Given the description of an element on the screen output the (x, y) to click on. 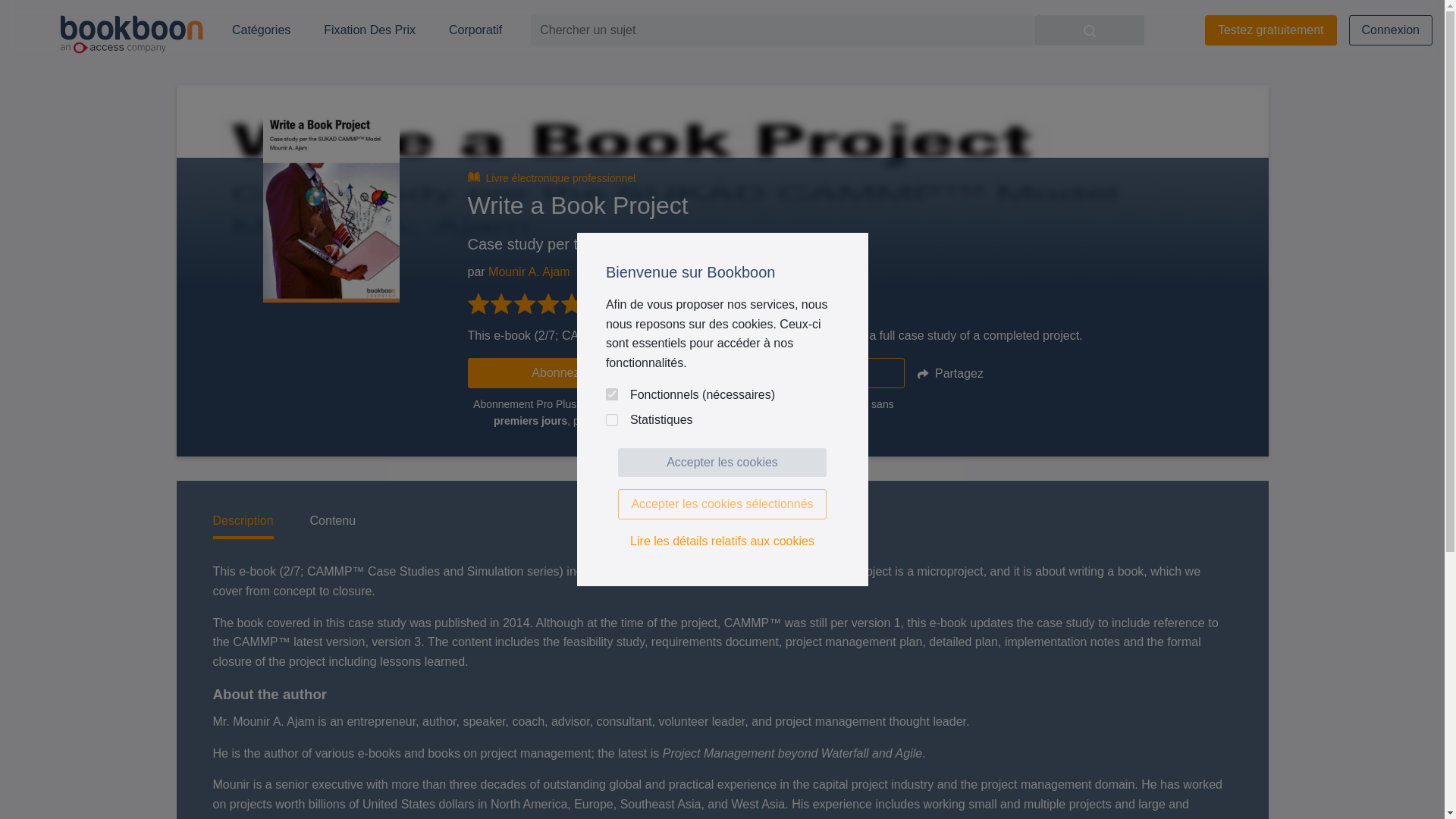
Accepter les cookies (722, 461)
Corporatif (475, 30)
STATISTICAL (611, 419)
FUNCTIONAL (611, 394)
Fixation Des Prix (369, 30)
